Given the description of an element on the screen output the (x, y) to click on. 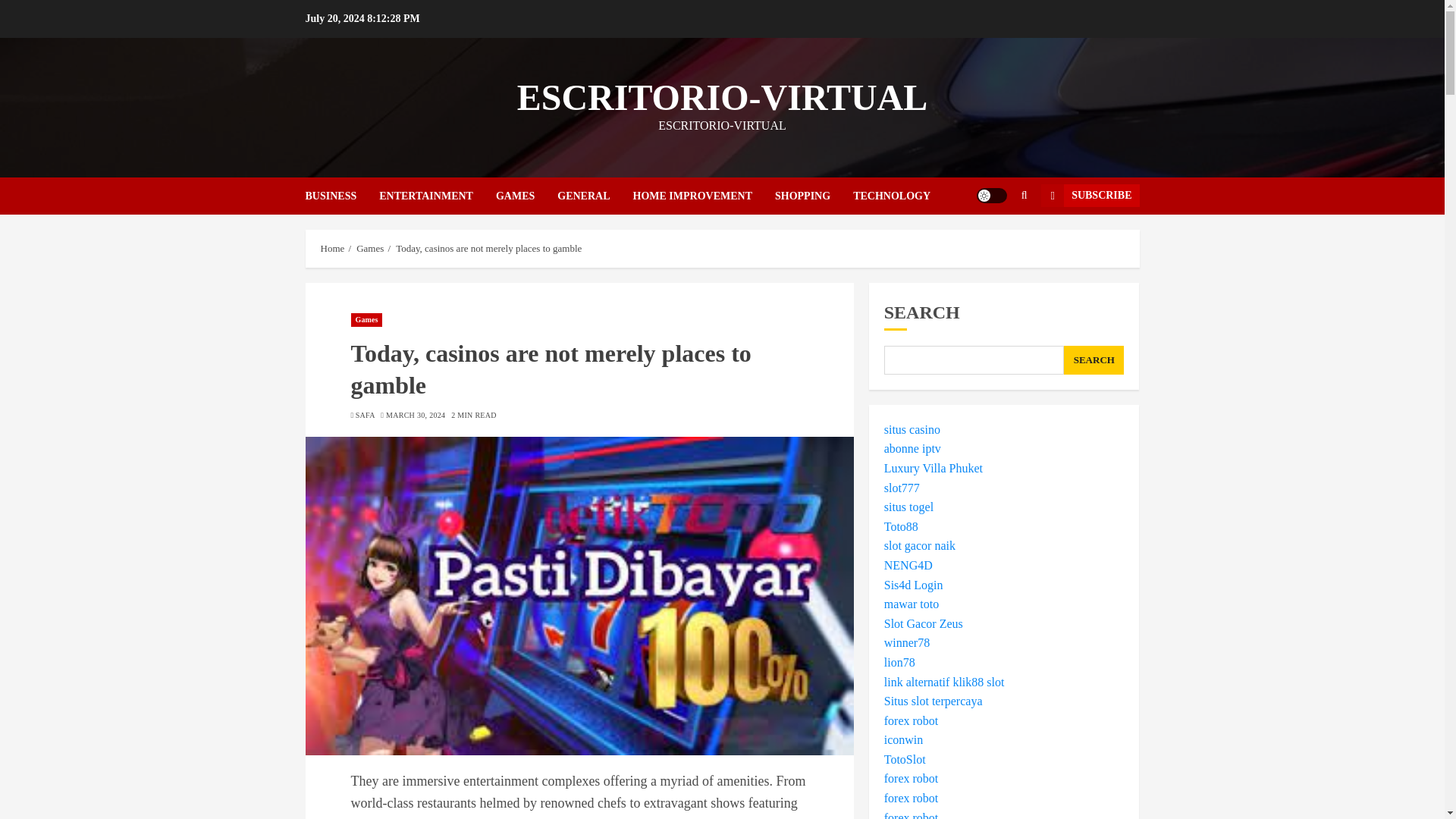
Games (370, 248)
Toto88 (900, 526)
SEARCH (1094, 359)
SUBSCRIBE (1089, 195)
mawar toto (494, 818)
situs togel (908, 506)
HOME IMPROVEMENT (702, 195)
situs casino (911, 429)
abonne iptv (911, 448)
MARCH 30, 2024 (415, 415)
GAMES (526, 195)
ENTERTAINMENT (437, 195)
BUSINESS (341, 195)
slot777 (901, 487)
GENERAL (594, 195)
